Given the description of an element on the screen output the (x, y) to click on. 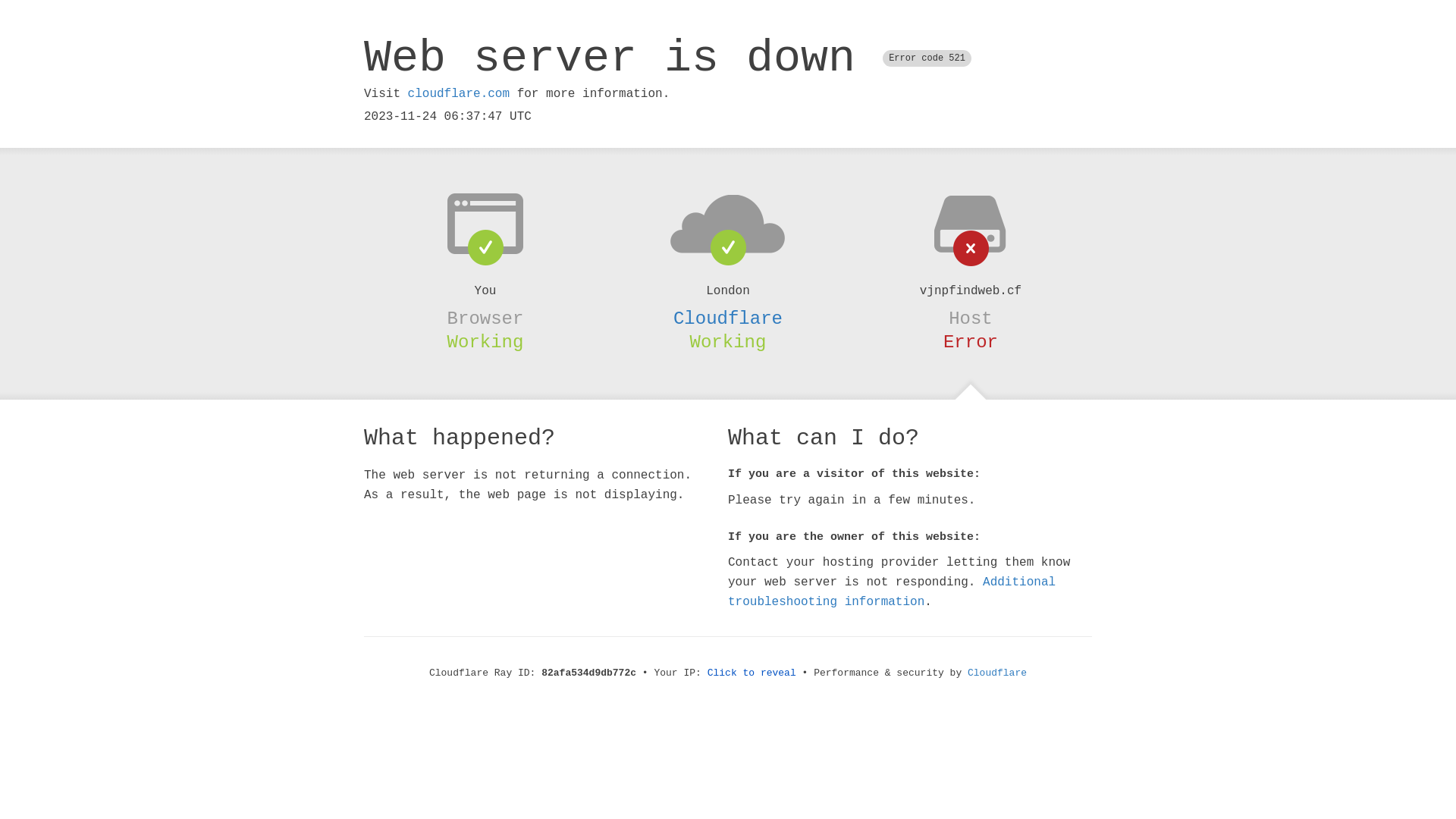
Additional troubleshooting information Element type: text (891, 591)
Click to reveal Element type: text (751, 672)
cloudflare.com Element type: text (458, 93)
Cloudflare Element type: text (996, 672)
Cloudflare Element type: text (727, 318)
